Given the description of an element on the screen output the (x, y) to click on. 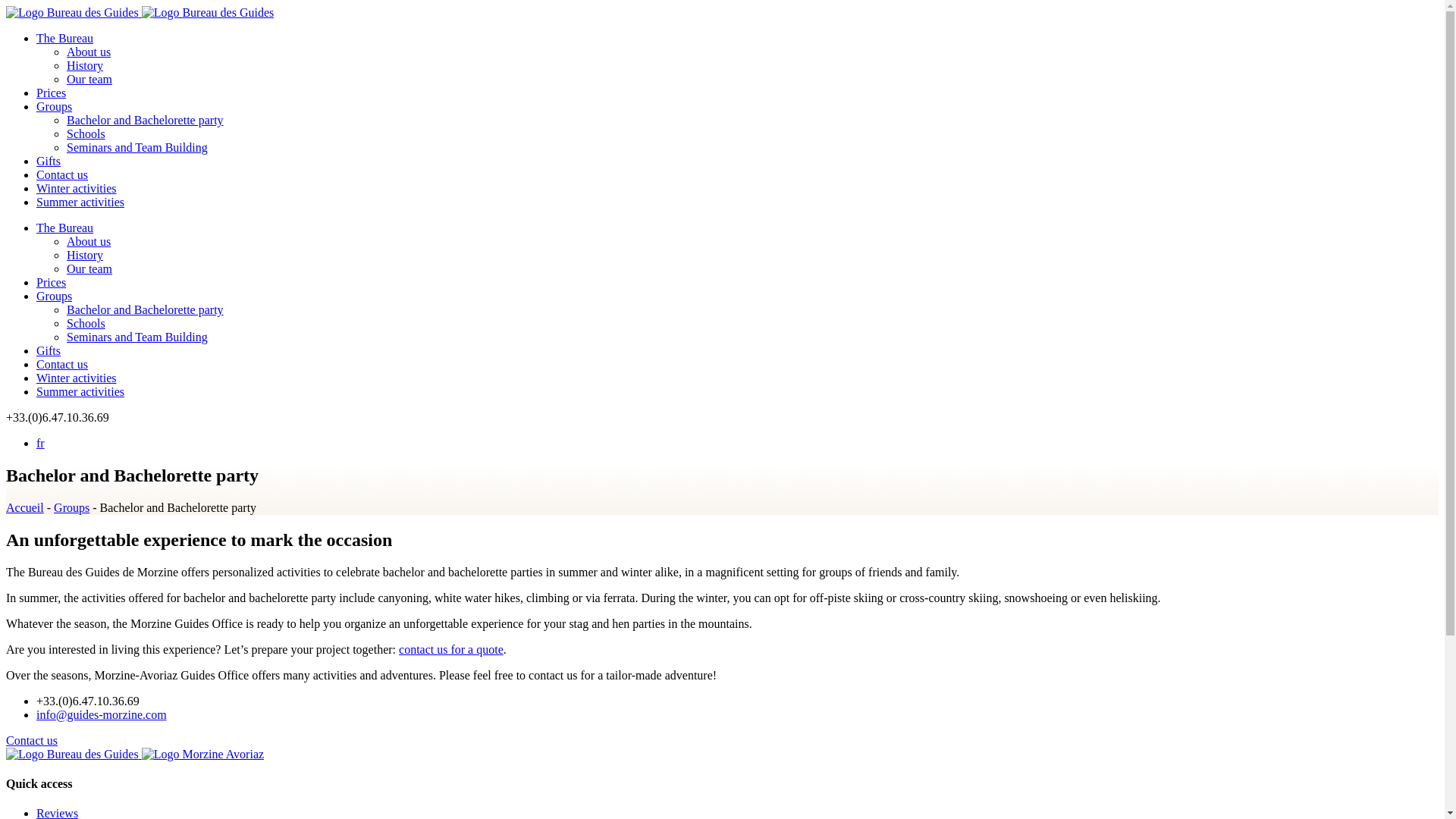
About us (88, 241)
The Bureau (64, 227)
Groups (53, 295)
Schools (85, 323)
Gifts (48, 160)
Winter activities (76, 377)
Contact us (31, 739)
contact us for a quote (450, 649)
History (84, 254)
About us (88, 51)
